Given the description of an element on the screen output the (x, y) to click on. 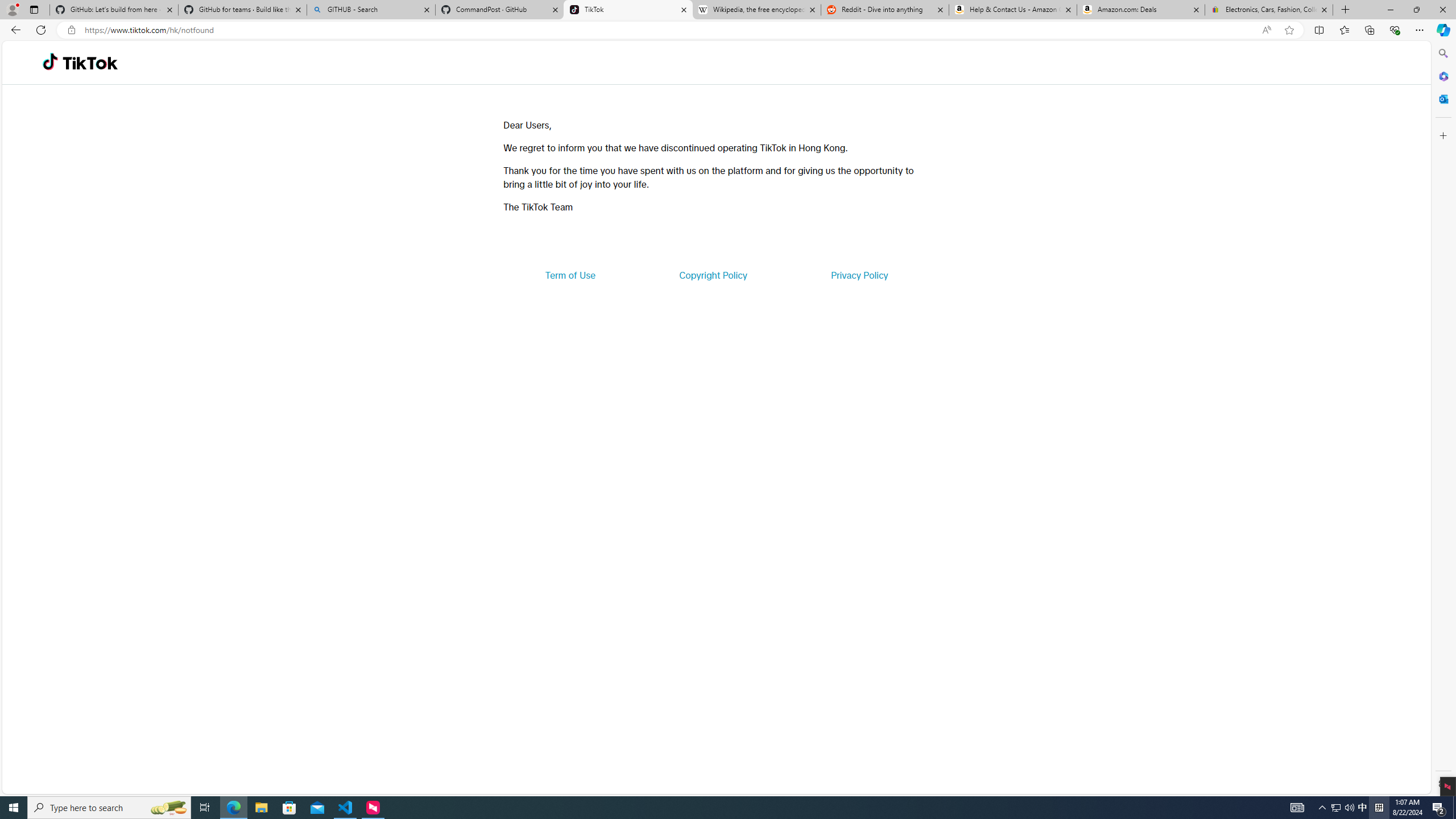
Privacy Policy (858, 274)
GITHUB - Search (370, 9)
TikTok (89, 62)
Amazon.com: Deals (1140, 9)
